Given the description of an element on the screen output the (x, y) to click on. 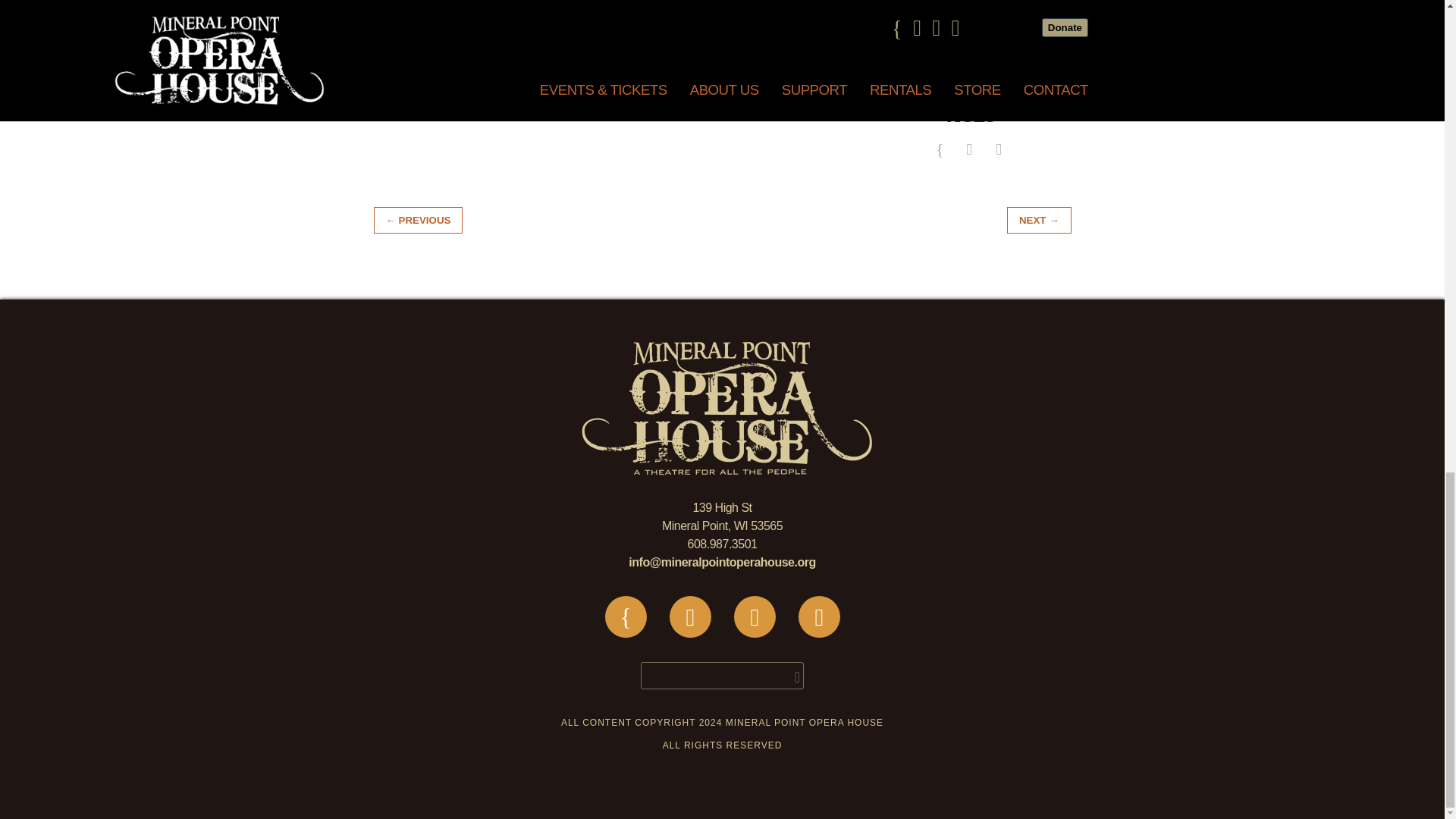
Spotify (754, 617)
Facebook (625, 617)
YouTube (819, 617)
Instagram (690, 617)
